Given the description of an element on the screen output the (x, y) to click on. 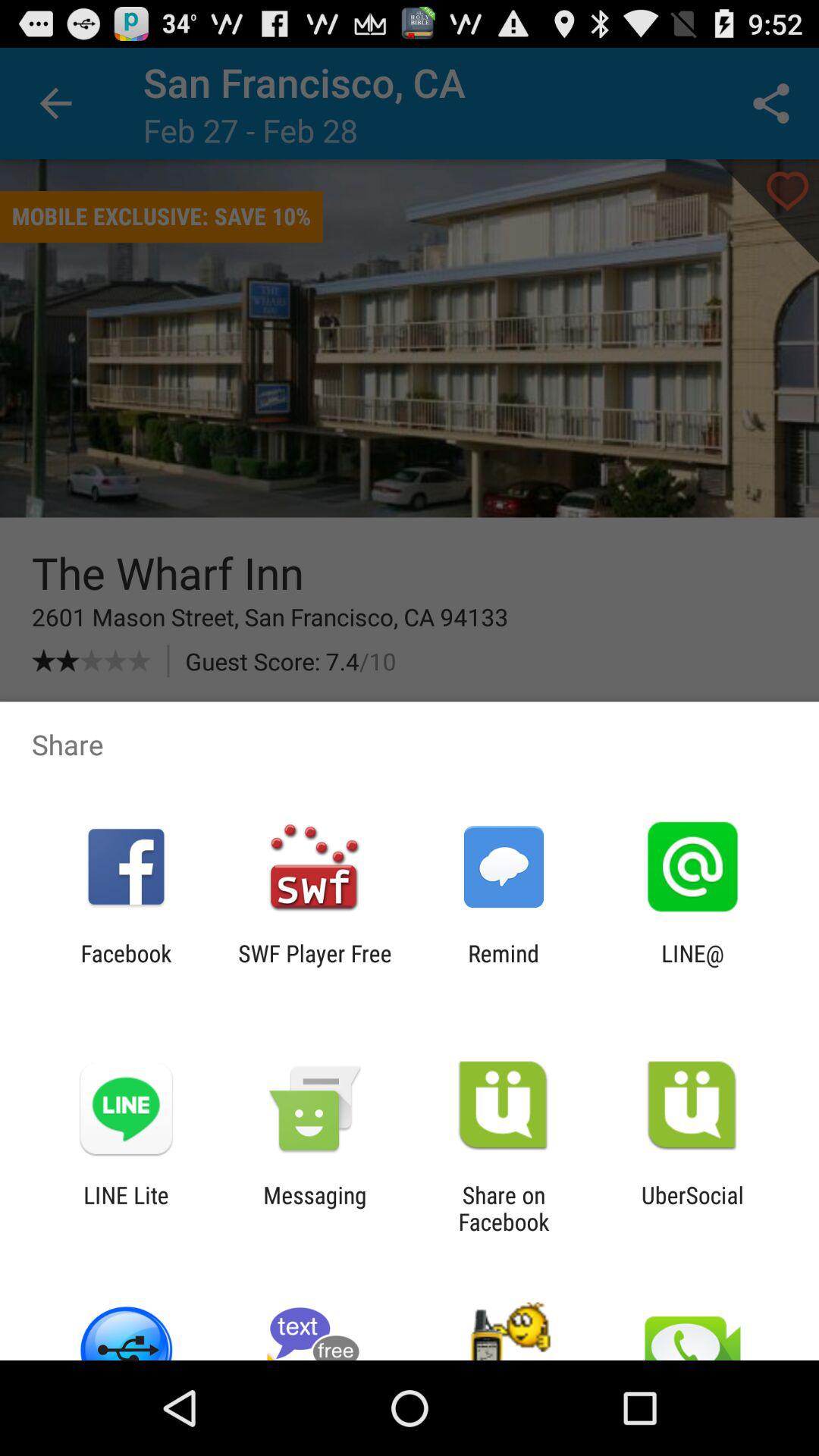
turn off the app to the right of the line lite item (314, 1208)
